Given the description of an element on the screen output the (x, y) to click on. 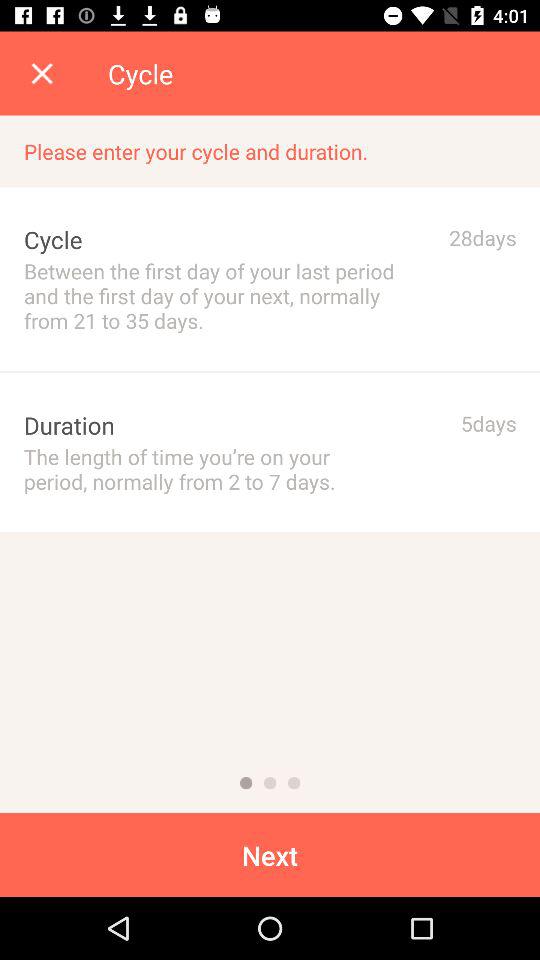
preview next (294, 783)
